Given the description of an element on the screen output the (x, y) to click on. 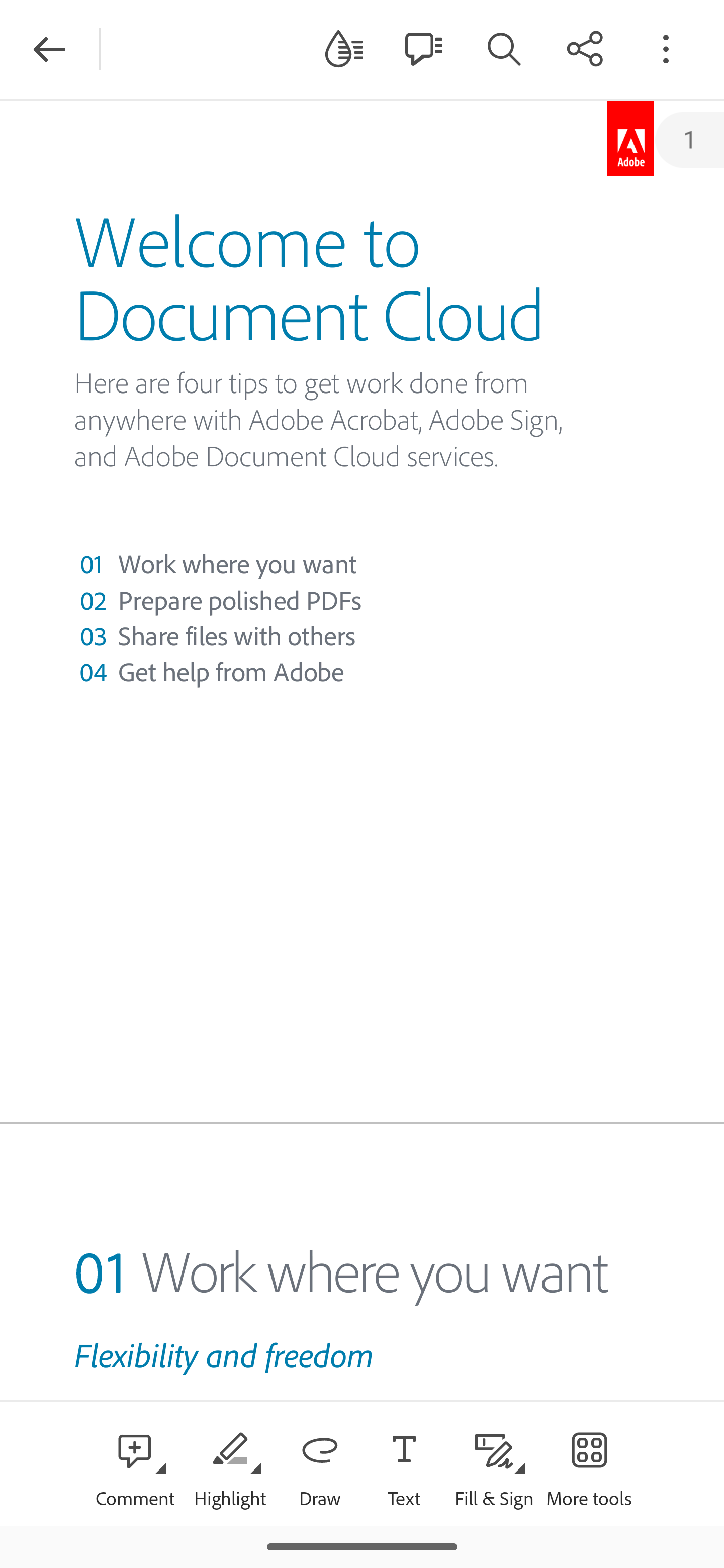
Back (49, 49)
Turn on Liquid Mode (343, 48)
Find keyword in document (503, 48)
Share this document with others (584, 48)
More options (665, 48)
Comments (423, 48)
Comment (134, 1463)
Highlight (229, 1463)
Draw (319, 1463)
Text (404, 1463)
Fill & Sign (493, 1463)
More tools (588, 1463)
